Given the description of an element on the screen output the (x, y) to click on. 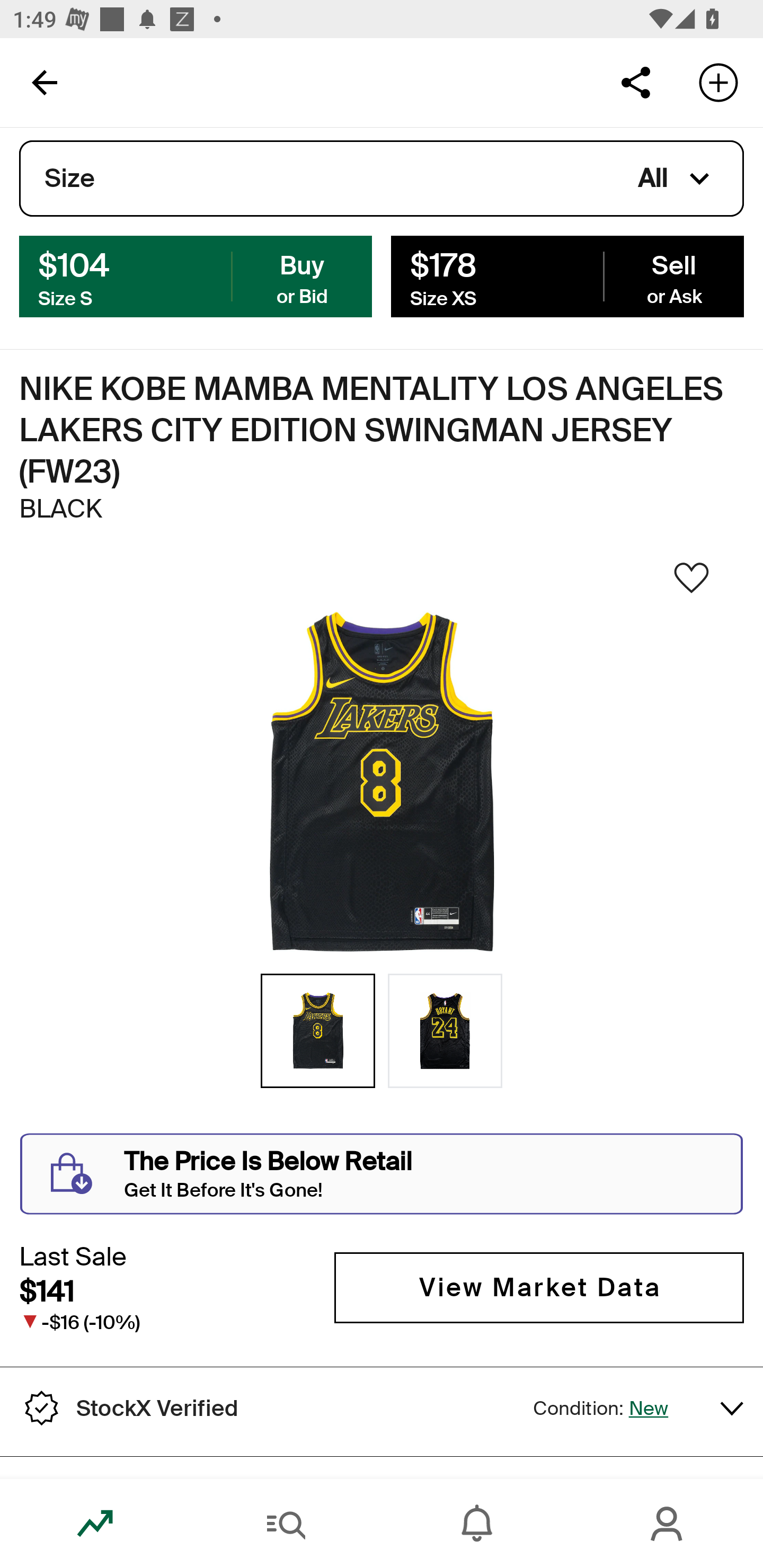
Share (635, 81)
Add (718, 81)
Size All (381, 178)
$104 Buy Size S or Bid (195, 275)
$178 Sell Size XS or Ask (566, 275)
Sneaker Image (381, 782)
View Market Data (538, 1287)
Search (285, 1523)
Inbox (476, 1523)
Account (667, 1523)
